Given the description of an element on the screen output the (x, y) to click on. 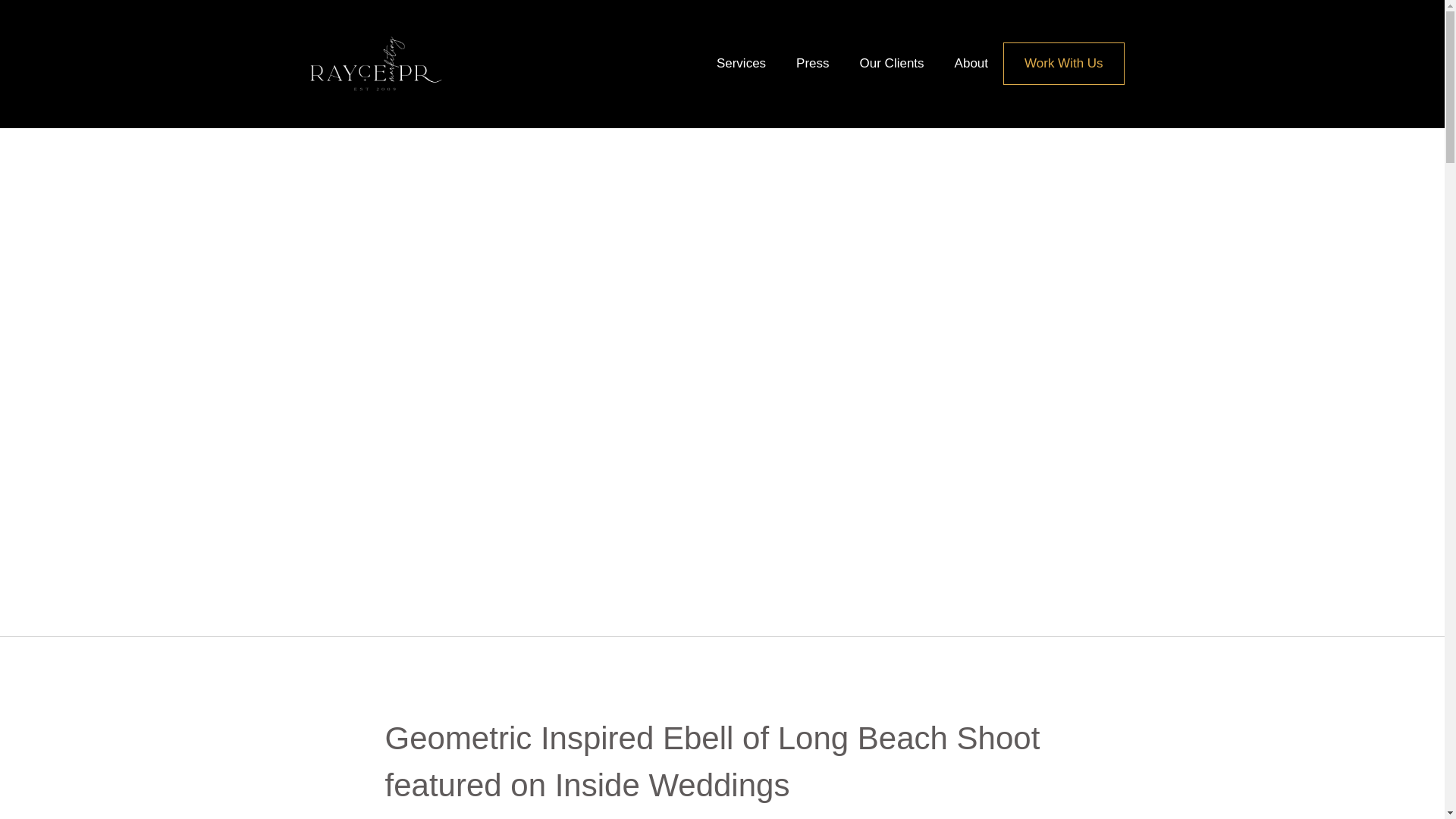
Services (740, 63)
About (971, 63)
Press (812, 63)
Our Clients (891, 63)
Work With Us (1063, 63)
